Given the description of an element on the screen output the (x, y) to click on. 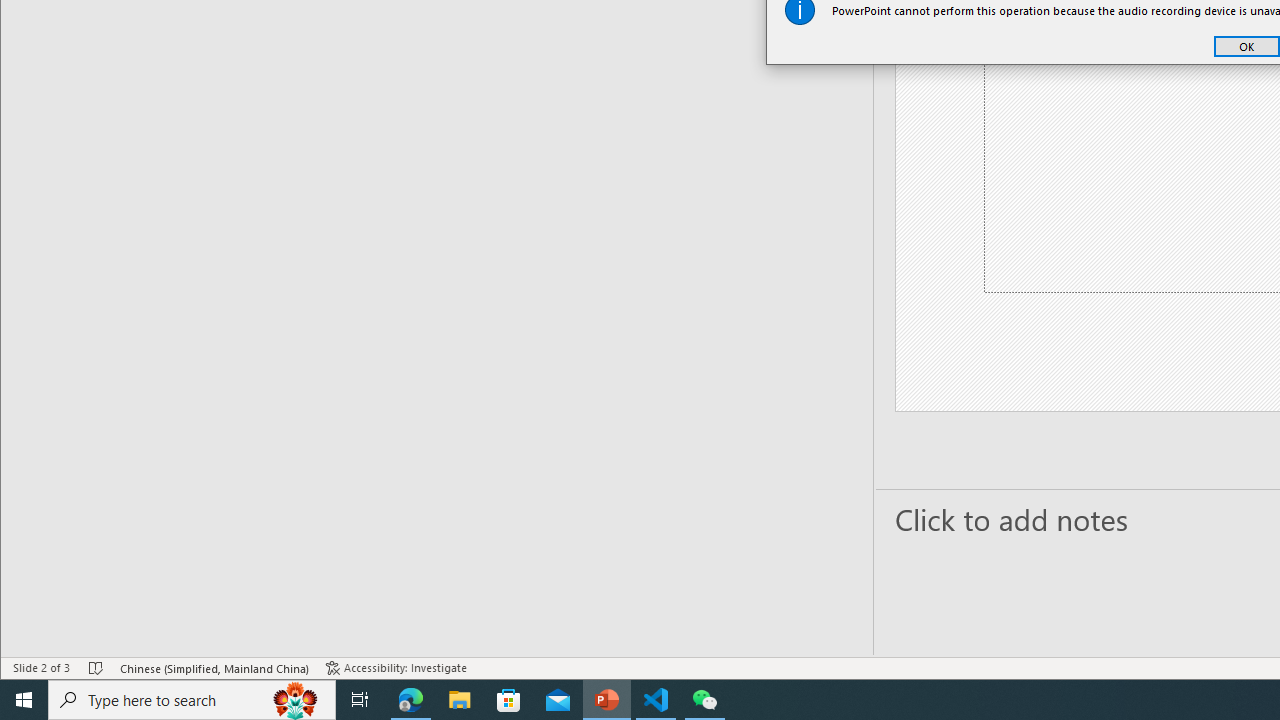
WeChat - 1 running window (704, 699)
